Given the description of an element on the screen output the (x, y) to click on. 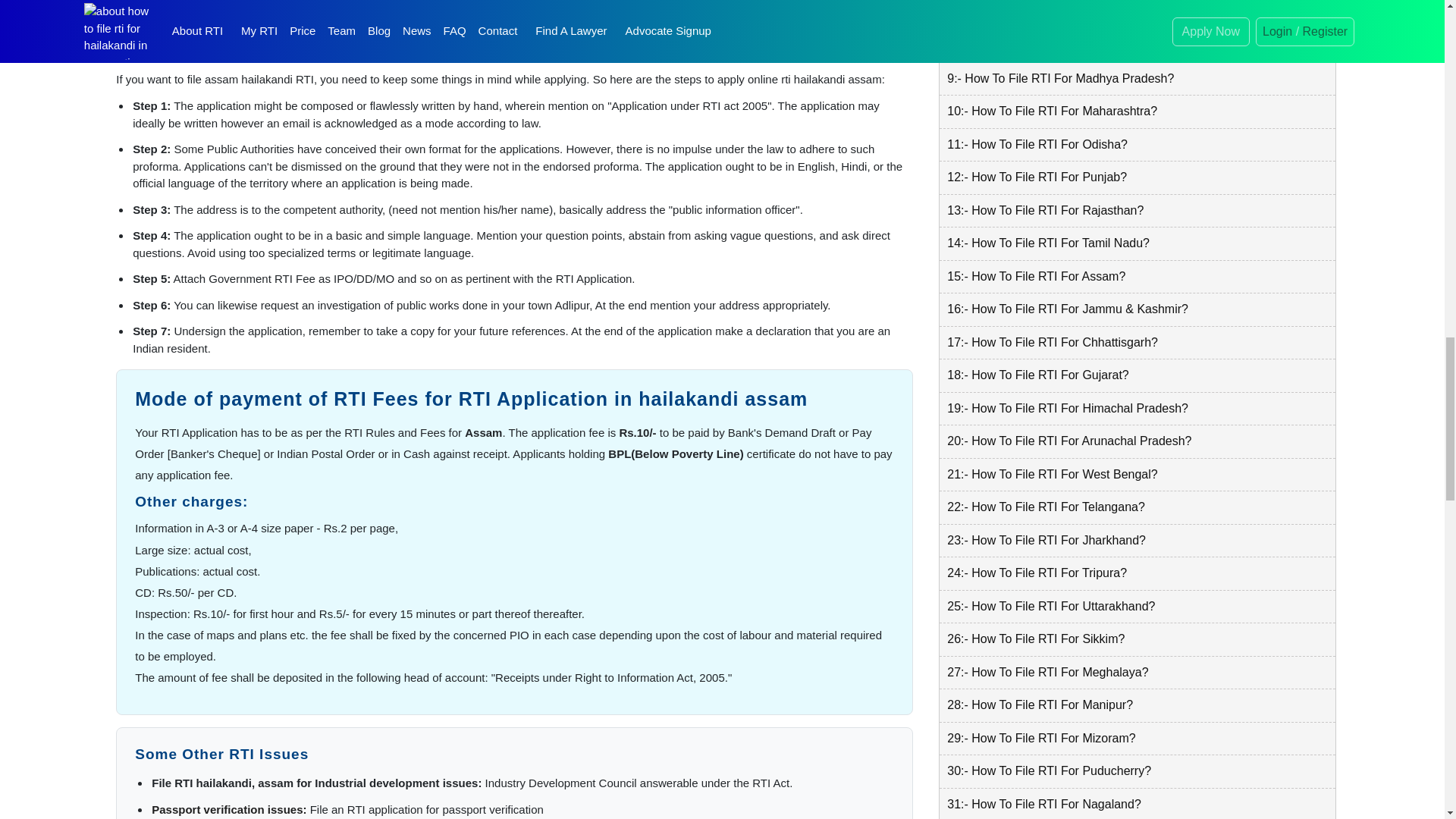
Passport verification issues: (228, 809)
